Given the description of an element on the screen output the (x, y) to click on. 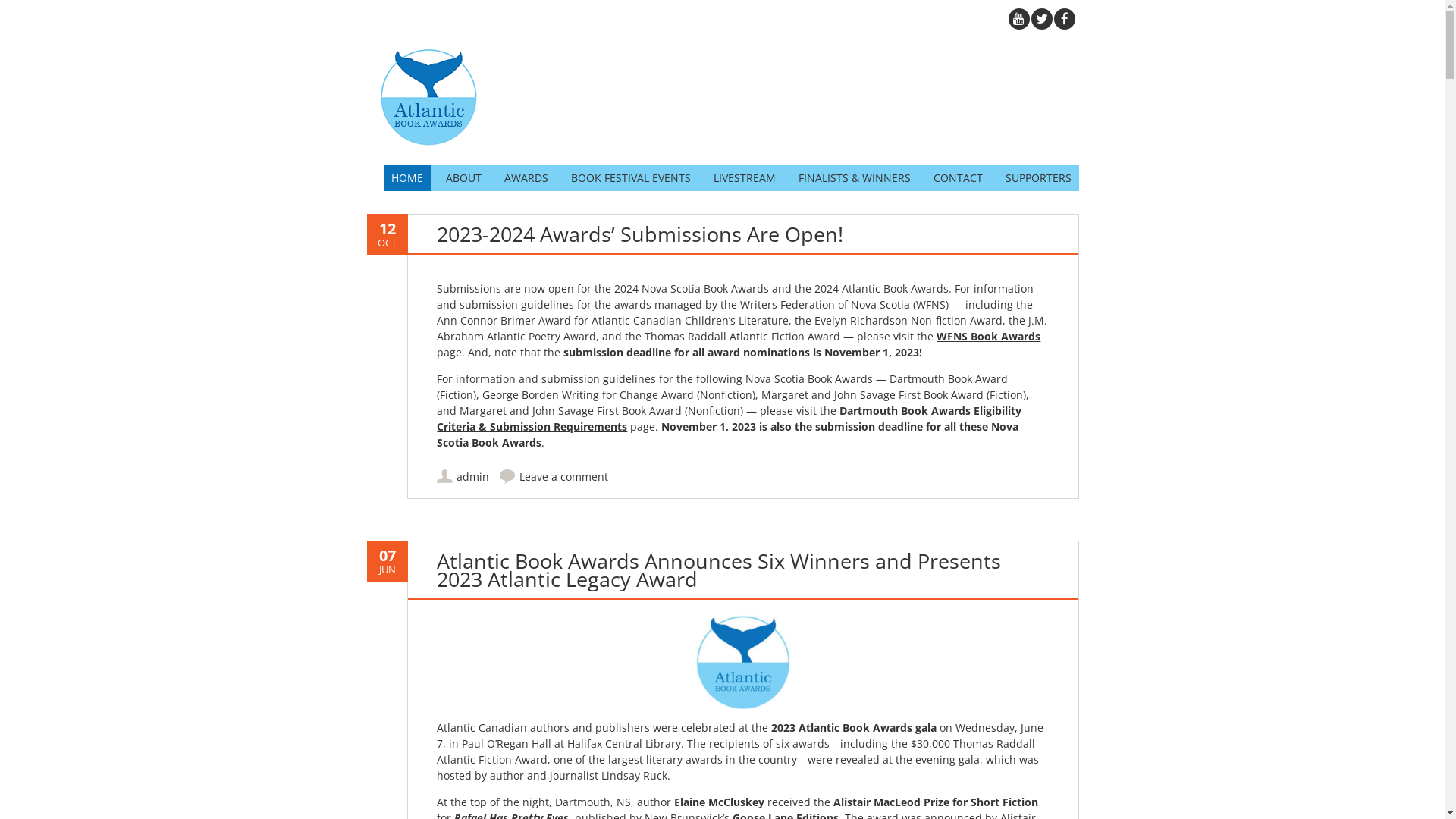
BOOK FESTIVAL EVENTS Element type: text (629, 177)
LIVESTREAM Element type: text (743, 177)
WFNS Book Awards Element type: text (988, 336)
youtube Element type: hover (1018, 18)
SUPPORTERS Element type: text (1038, 177)
FINALISTS & WINNERS Element type: text (853, 177)
AWARDS Element type: text (525, 177)
CONTACT Element type: text (957, 177)
twitter Element type: hover (1040, 18)
admin Element type: text (472, 476)
Leave a comment Element type: text (563, 476)
ABOUT Element type: text (463, 177)
HOME Element type: text (406, 177)
facebook Element type: hover (1063, 18)
